Given the description of an element on the screen output the (x, y) to click on. 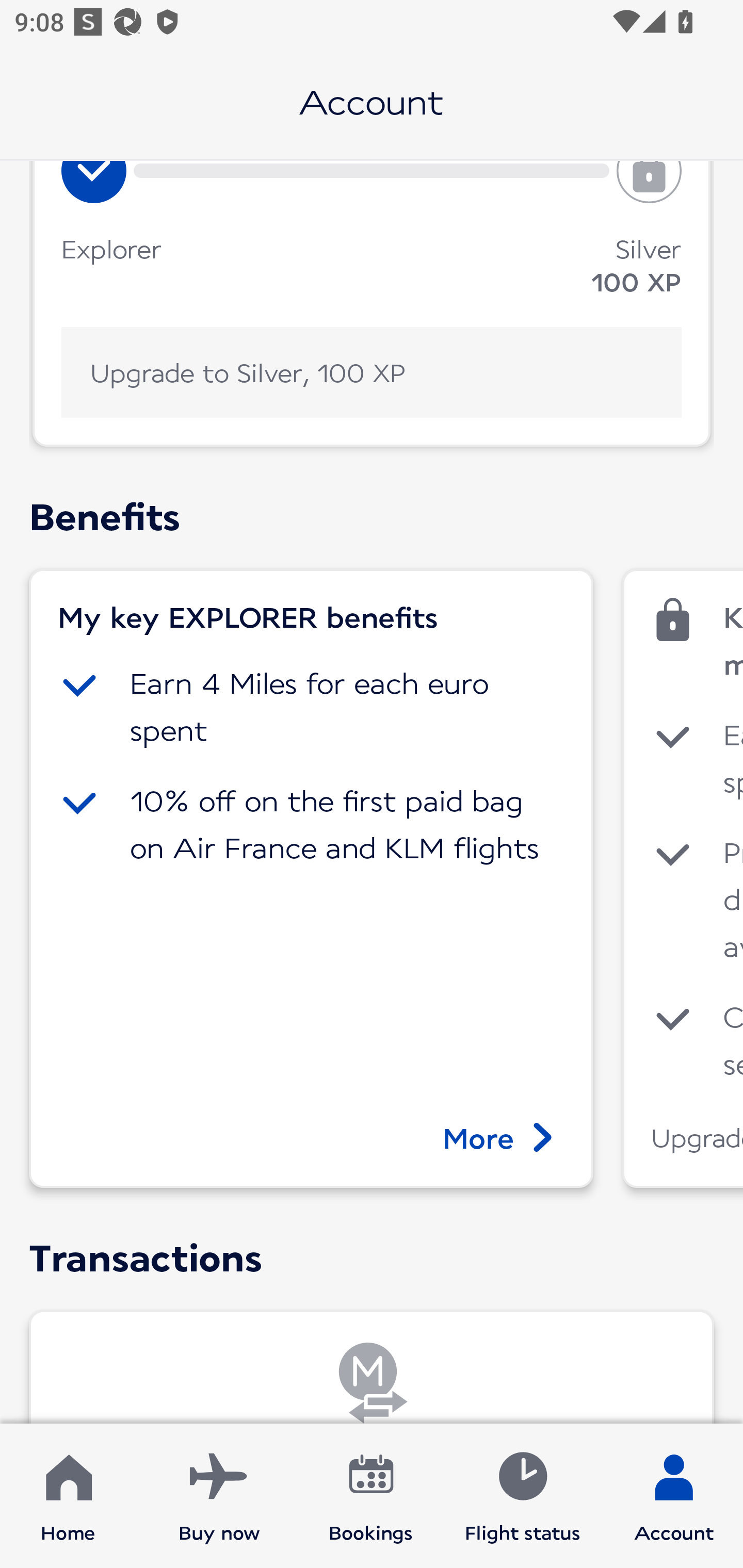
Home (68, 1495)
Buy now (219, 1495)
Bookings (370, 1495)
Flight status (522, 1495)
